Given the description of an element on the screen output the (x, y) to click on. 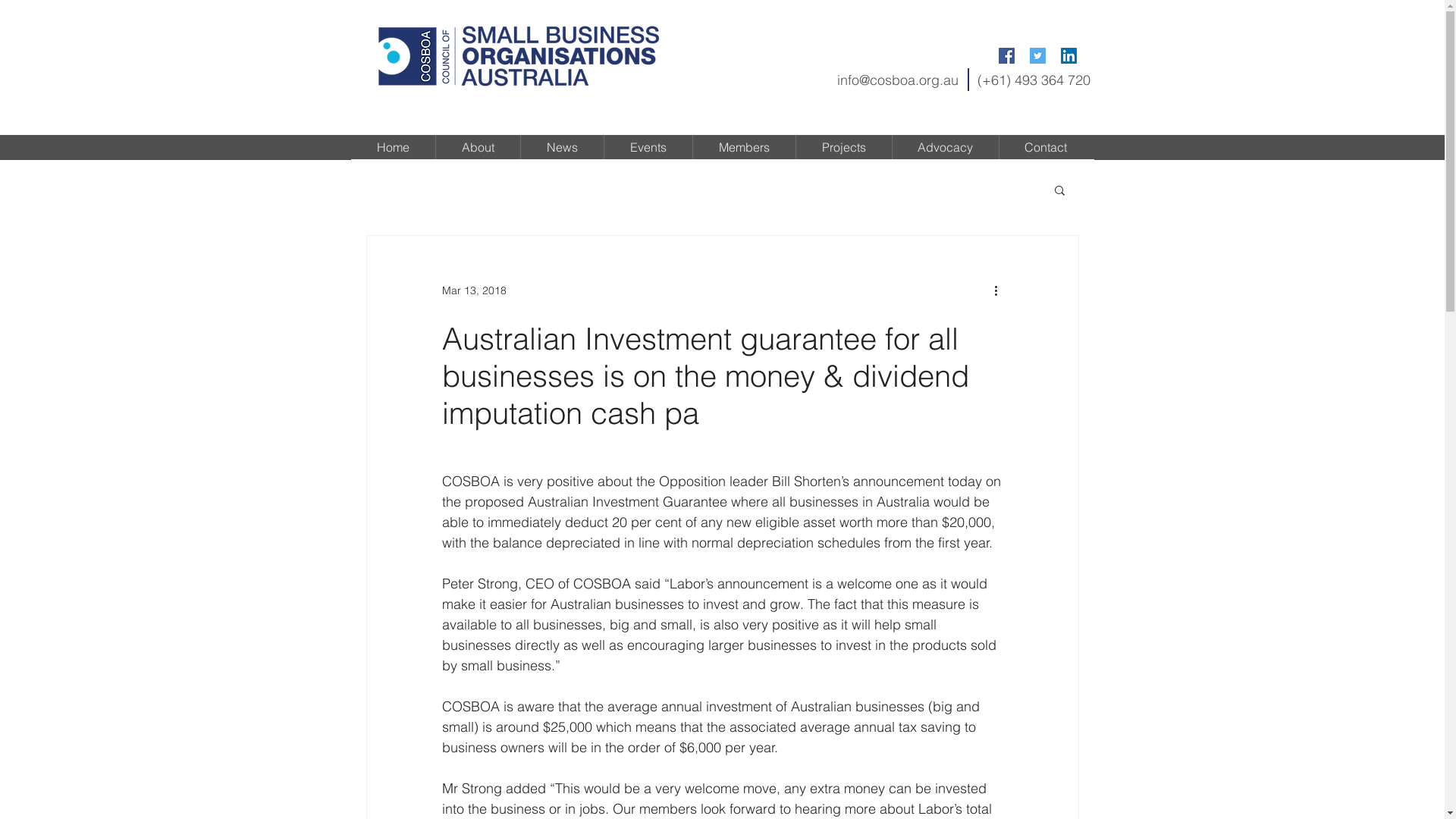
Home Element type: text (392, 147)
Advocacy Element type: text (944, 147)
Events Element type: text (647, 147)
info@cosboa.org.au Element type: text (897, 79)
Contact Element type: text (1045, 147)
